Given the description of an element on the screen output the (x, y) to click on. 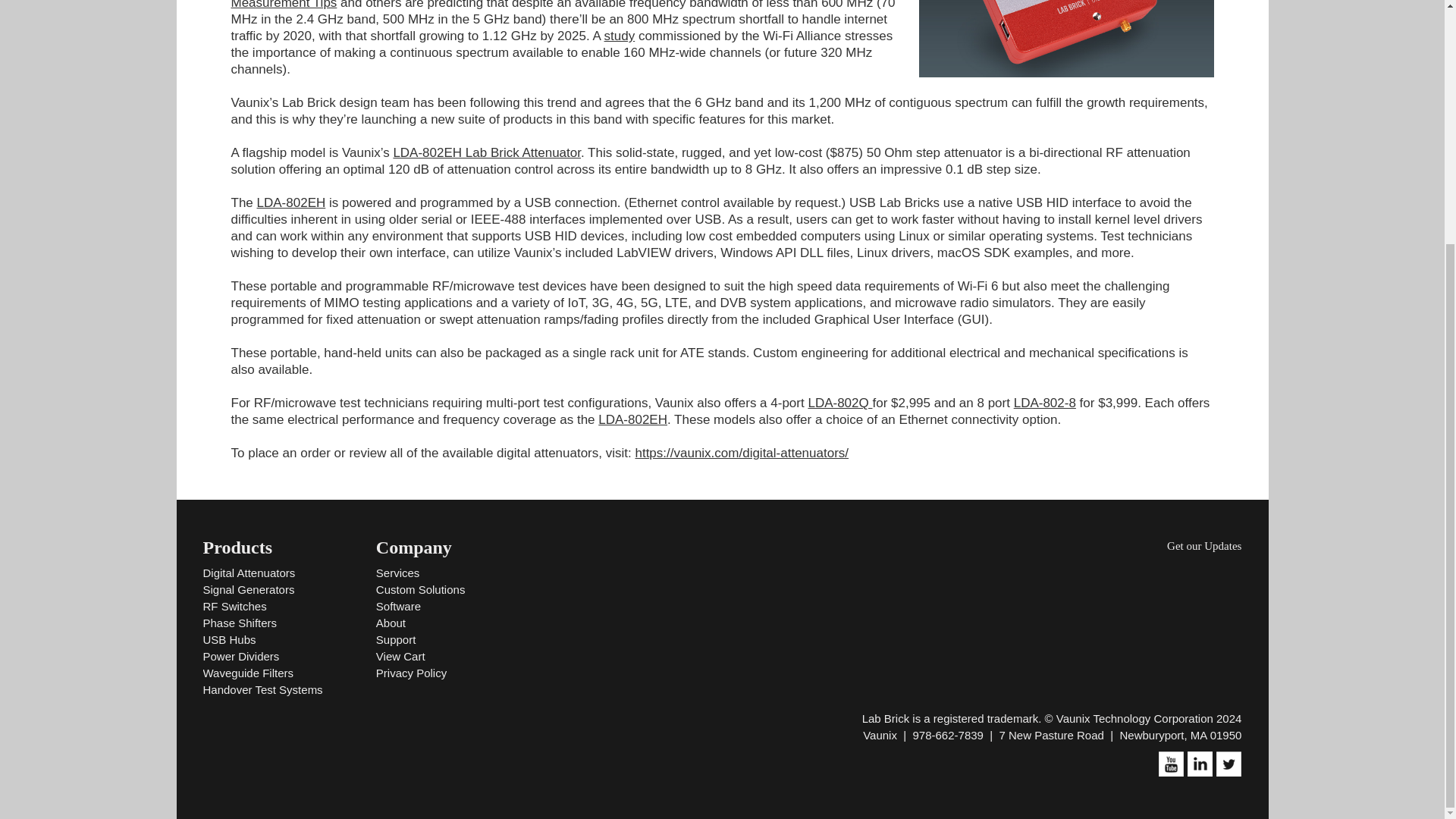
Handover Test Systems (263, 689)
Phase Shifters (240, 622)
LDA-802EH (291, 202)
LDA-802EH Lab Brick Attenuator (486, 152)
Test and Measurement Tips (535, 4)
LDA-802EH (632, 419)
LDA-802Q (840, 402)
Power Dividers (241, 656)
RF Switches (234, 605)
Signal Generators (249, 589)
